Given the description of an element on the screen output the (x, y) to click on. 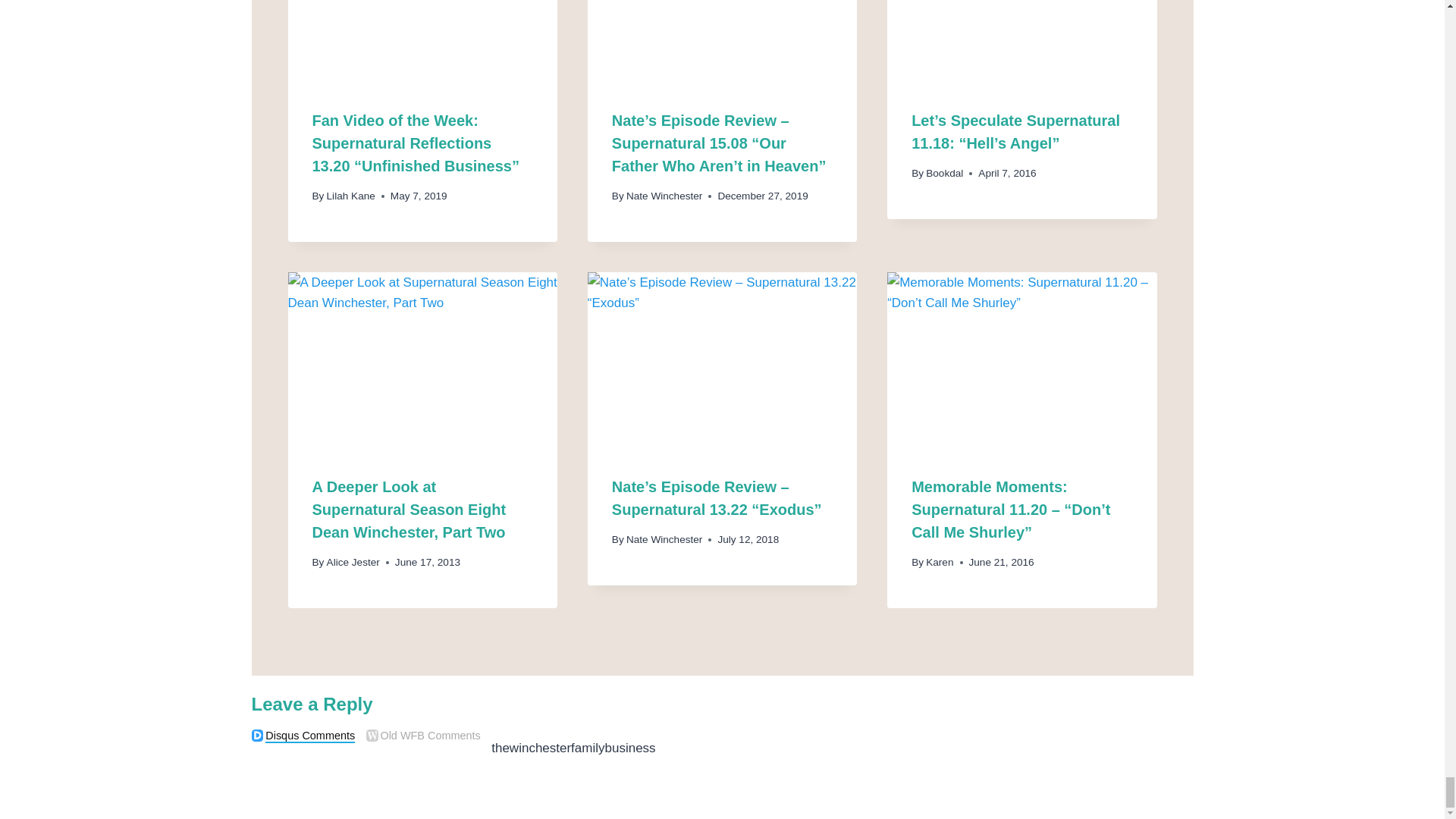
Old WFB Comments (372, 735)
Disqus Comments (257, 735)
